Given the description of an element on the screen output the (x, y) to click on. 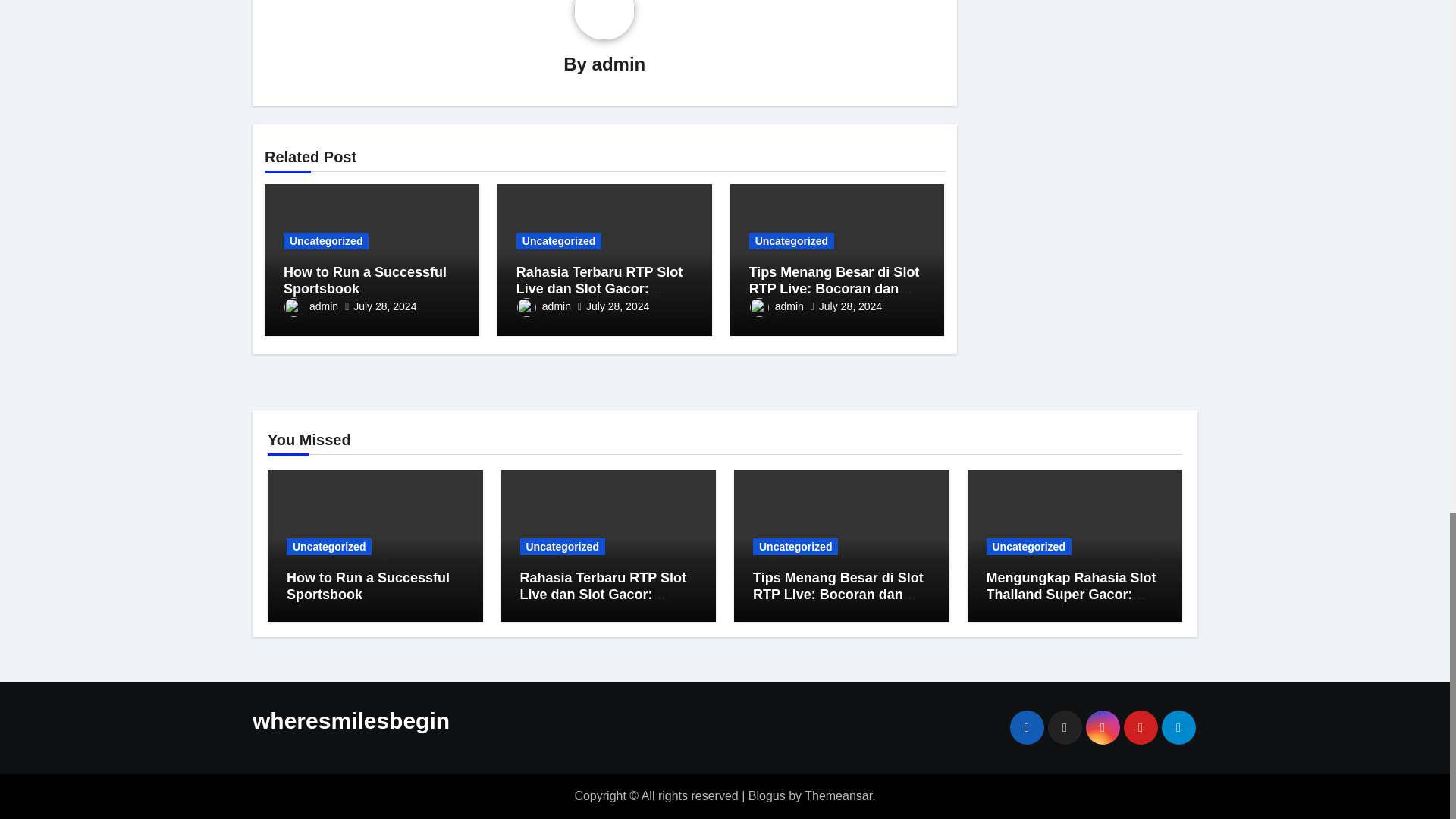
How to Run a Successful Sportsbook (364, 280)
admin (310, 306)
Uncategorized (325, 240)
admin (543, 306)
July 28, 2024 (384, 306)
Permalink to: How to Run a Successful Sportsbook (367, 585)
admin (619, 64)
Uncategorized (558, 240)
Permalink to: How to Run a Successful Sportsbook (364, 280)
